Given the description of an element on the screen output the (x, y) to click on. 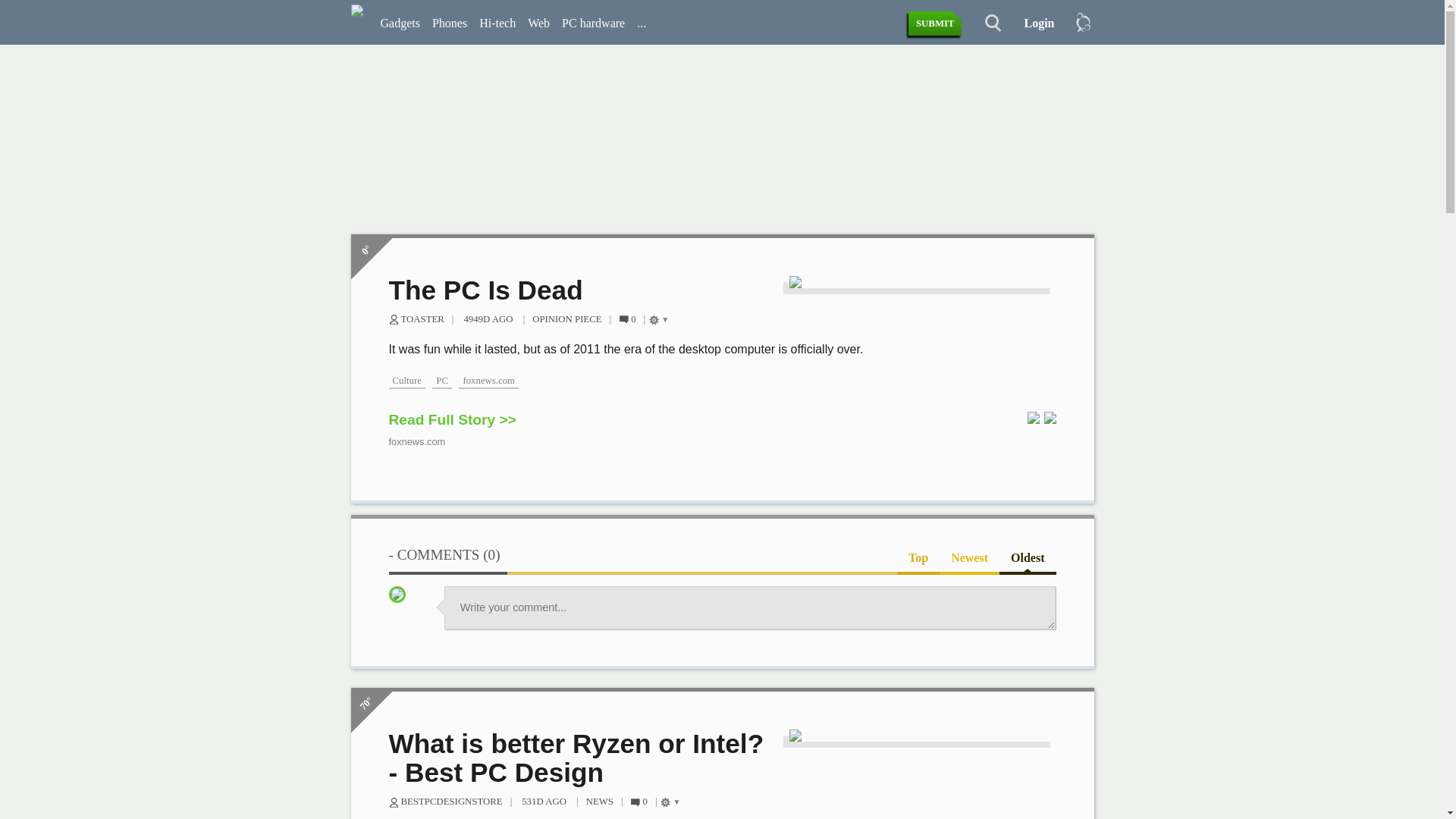
Search (984, 23)
PC hardware (593, 24)
Web (538, 24)
SUBMIT (935, 23)
Hi-tech (497, 24)
Gadgets (400, 24)
Login (1033, 23)
Phones (449, 24)
